Given the description of an element on the screen output the (x, y) to click on. 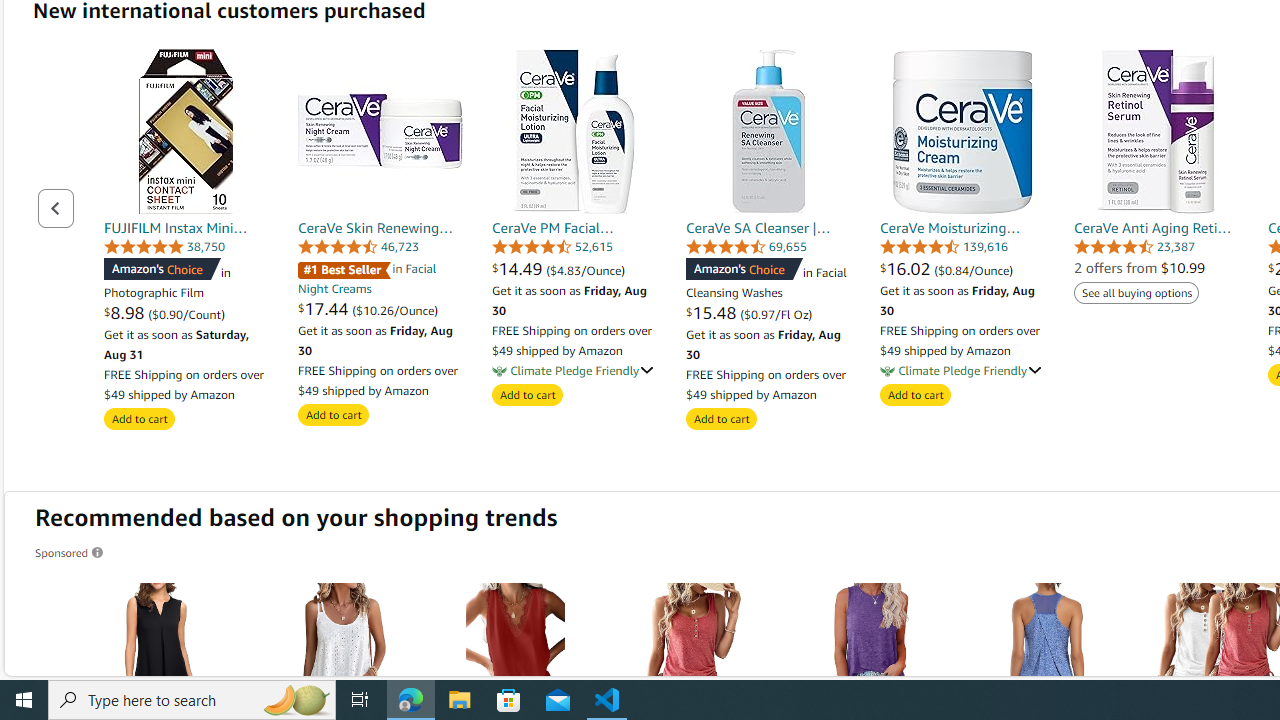
FUJIFILM Instax Mini Contact Sheet Film - 10 Exposures (185, 130)
FUJIFILM Instax Mini Contact Sheet Film - 10 Exposures (185, 130)
Previous page (56, 208)
$15.48  (713, 312)
$16.02  (907, 268)
Class: a-link-normal a-text-normal (962, 268)
($0.97/Fl Oz) (775, 314)
Leave feedback on Sponsored ad (70, 552)
($4.83/Ounce) (585, 269)
